Given the description of an element on the screen output the (x, y) to click on. 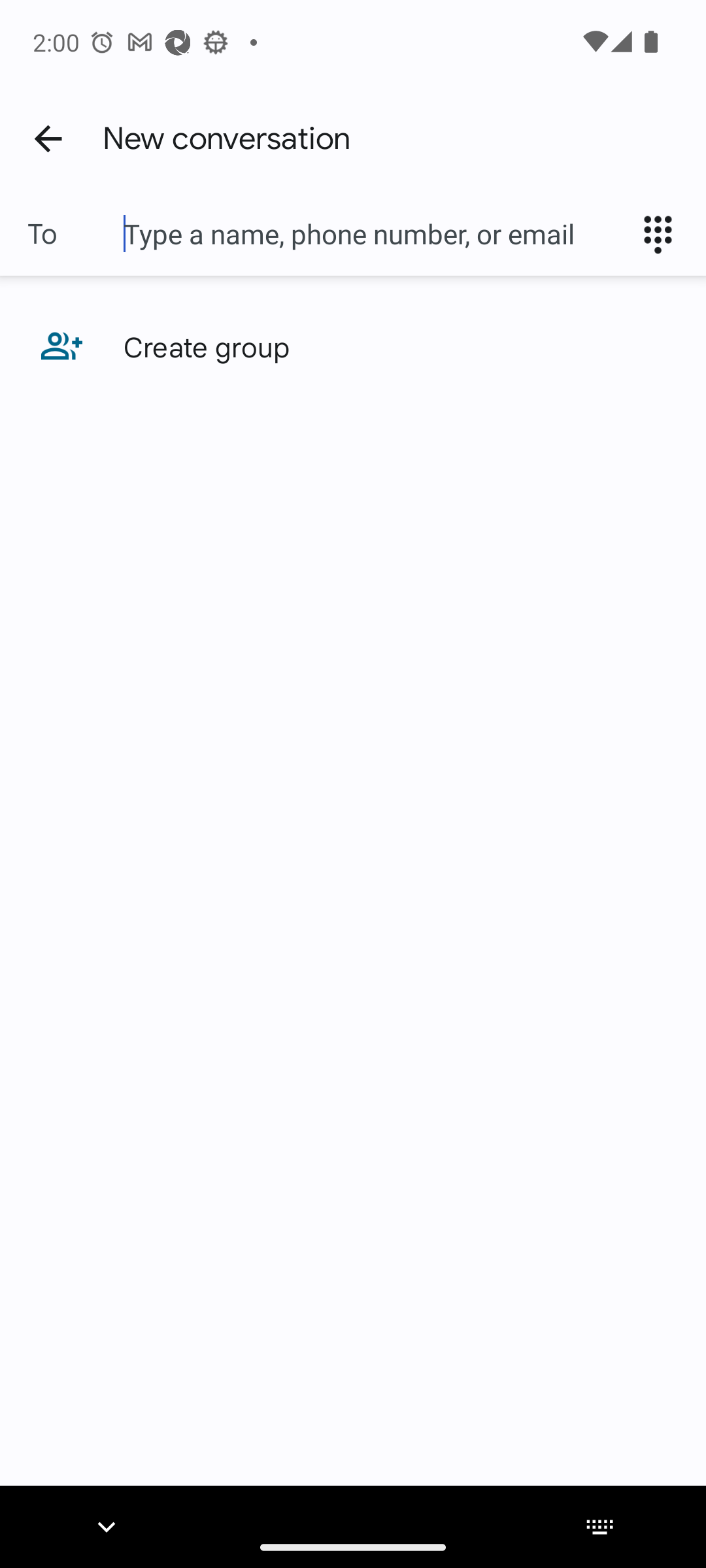
Navigate up (48, 137)
Type a name, phone number, or email (373, 233)
Switch between entering text and numbers (664, 233)
Create group (353, 346)
